Given the description of an element on the screen output the (x, y) to click on. 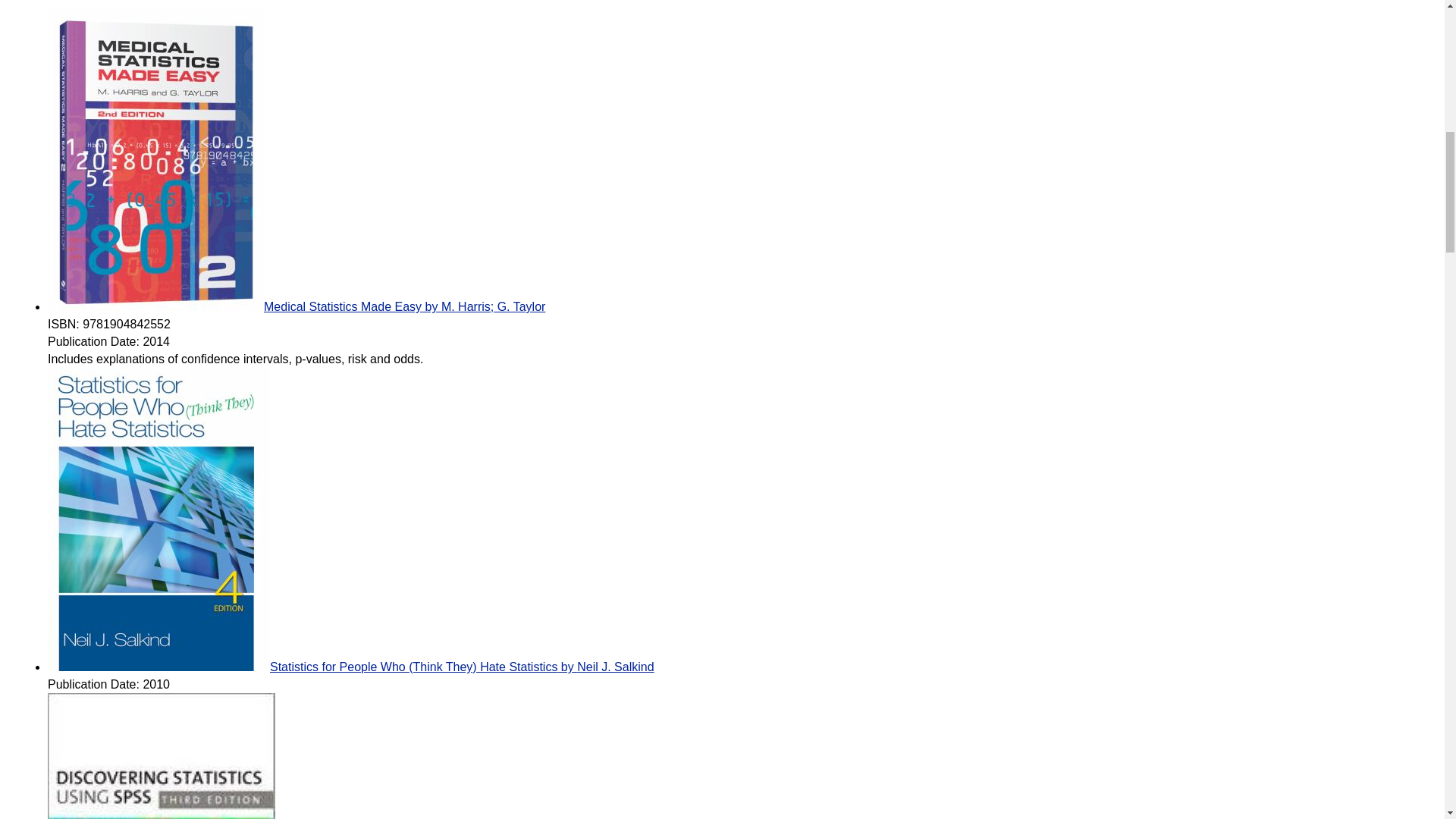
Medical Statistics Made Easy by M. Harris; G. Taylor (296, 306)
